Given the description of an element on the screen output the (x, y) to click on. 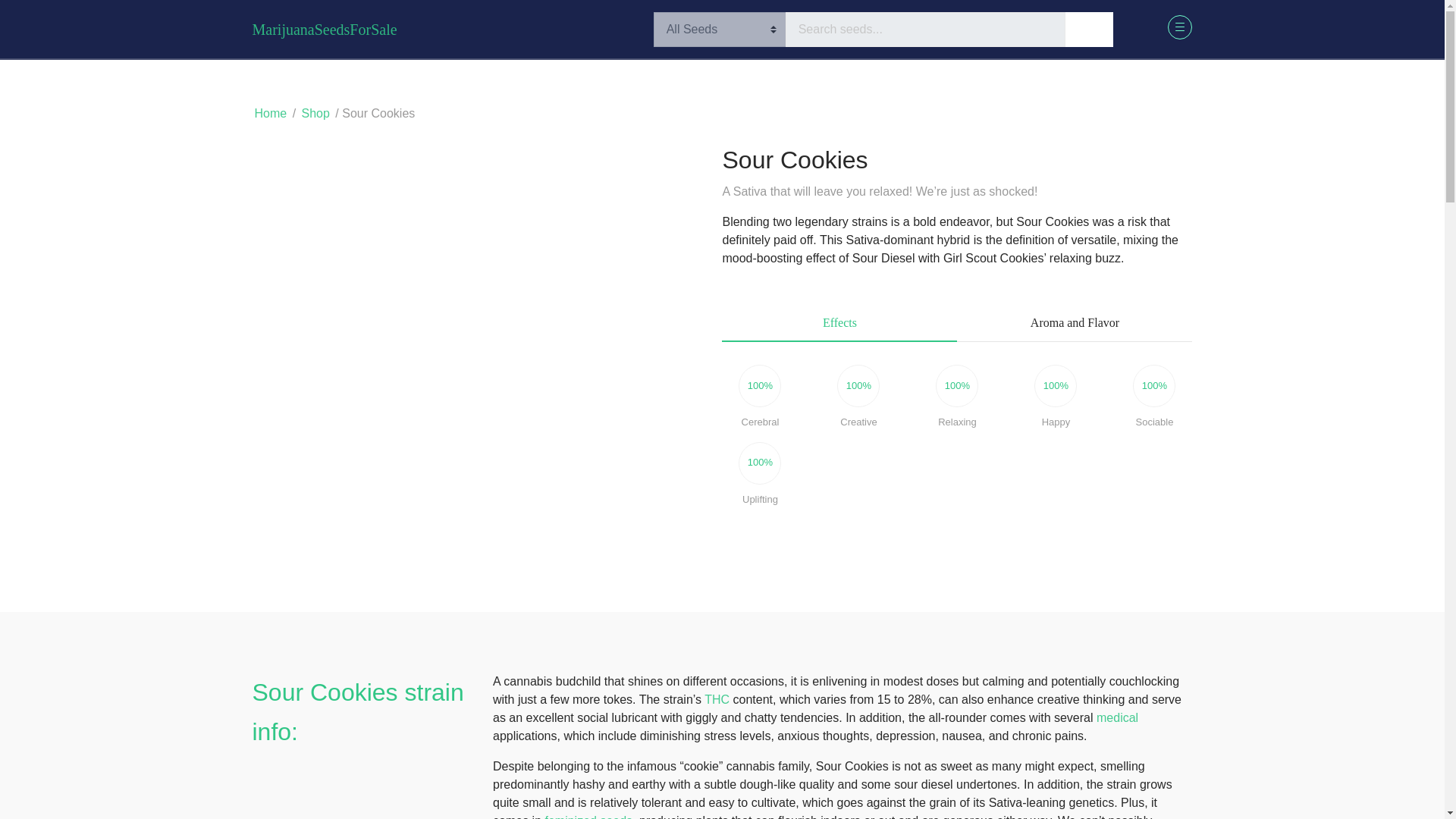
Aroma and Flavor (1074, 323)
feminized seeds (587, 816)
medical (1117, 717)
feminized seeds (587, 816)
THC (716, 698)
Home (269, 113)
medical (1117, 717)
Effects (839, 323)
THC (716, 698)
Shop (315, 113)
MarijuanaSeedsForSale (323, 29)
